Given the description of an element on the screen output the (x, y) to click on. 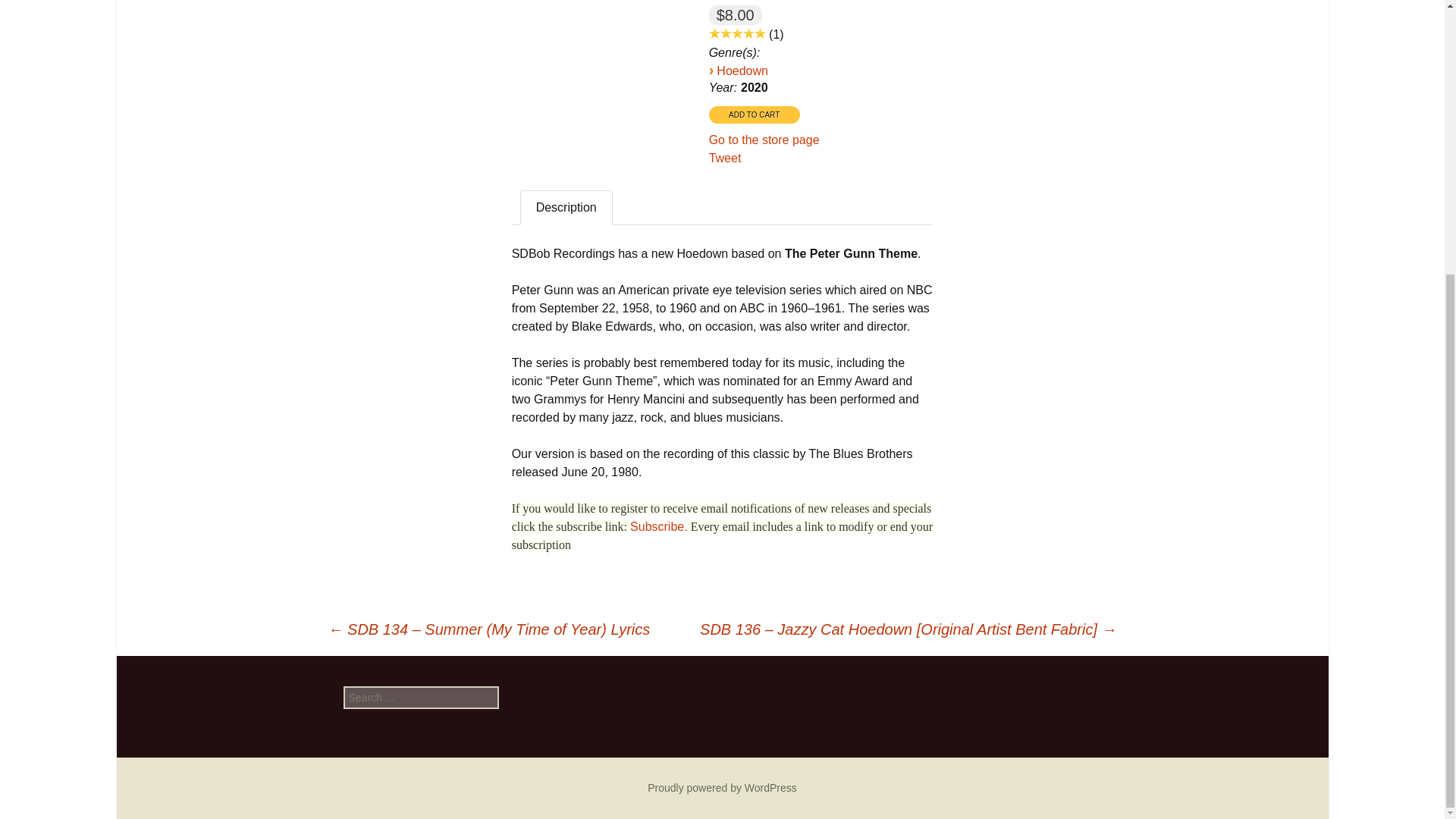
Hoedown (742, 70)
Subscribe. (658, 526)
Tweet (725, 157)
Go to the store page (764, 139)
Add to Cart (754, 114)
Proudly powered by WordPress (721, 787)
Add to Cart (754, 114)
